Given the description of an element on the screen output the (x, y) to click on. 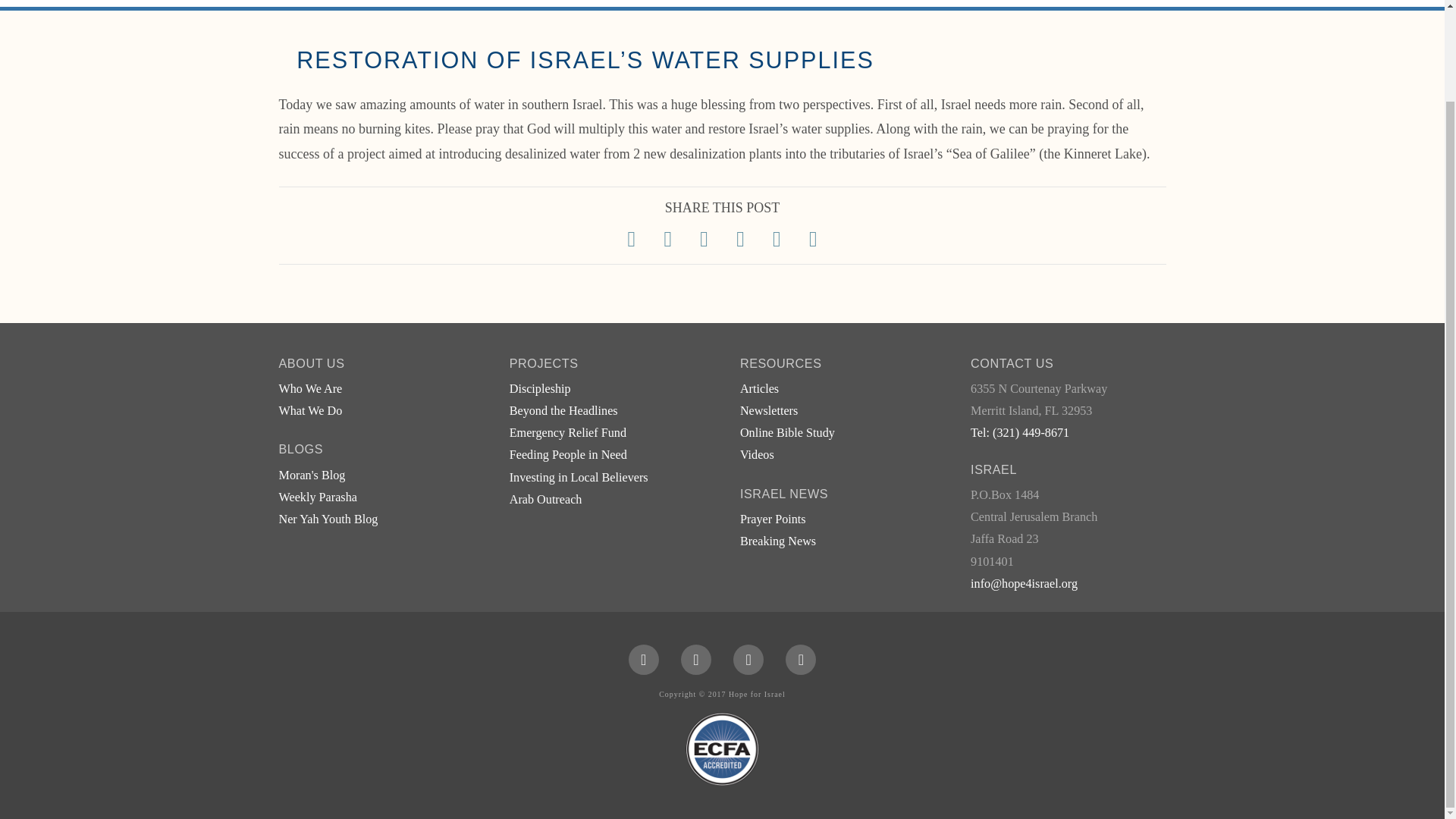
Instagram (800, 659)
YouTube (747, 659)
Facebook (643, 659)
